Given the description of an element on the screen output the (x, y) to click on. 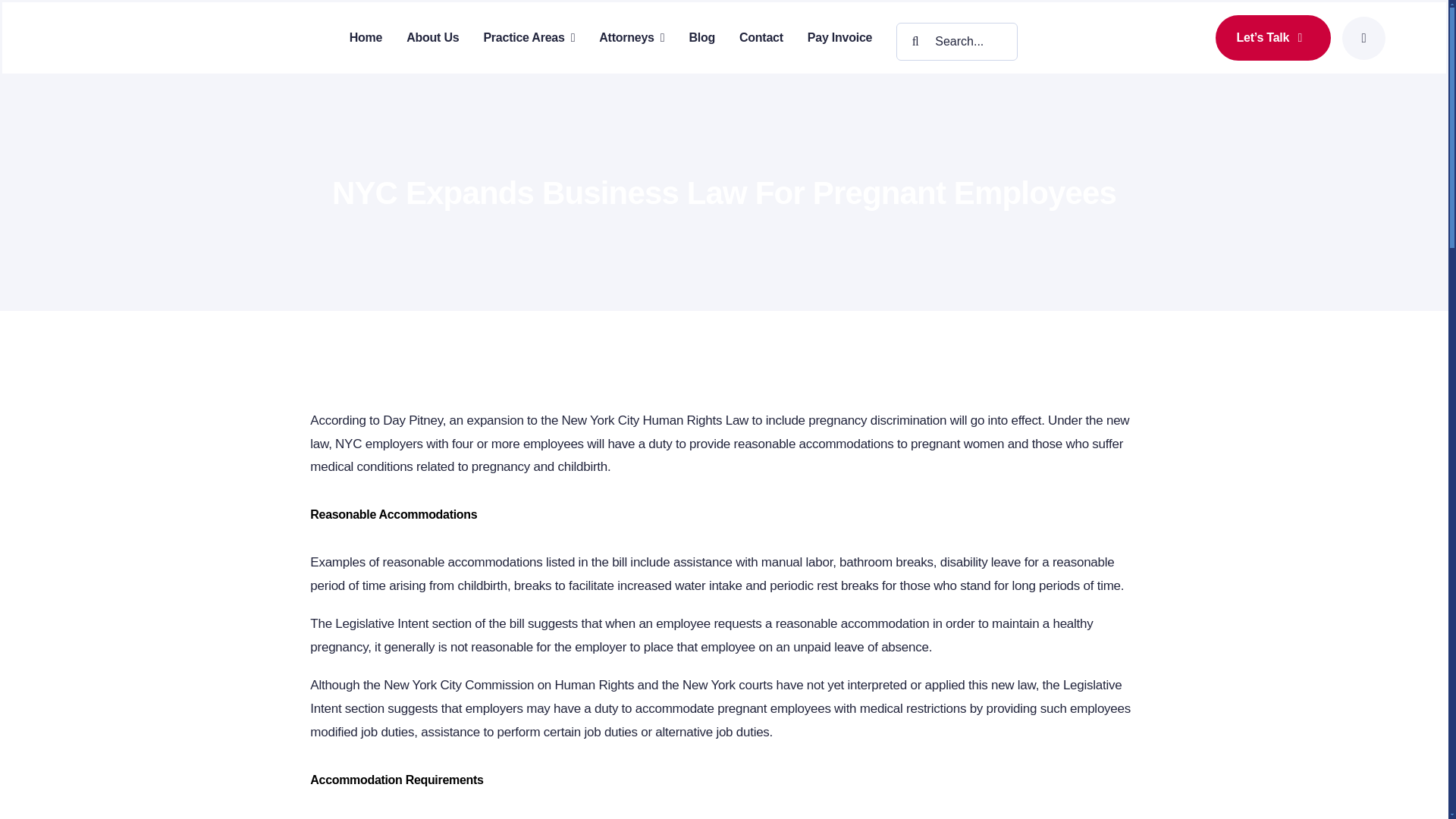
Practice Areas (529, 37)
Home (365, 37)
About Us (432, 37)
